Given the description of an element on the screen output the (x, y) to click on. 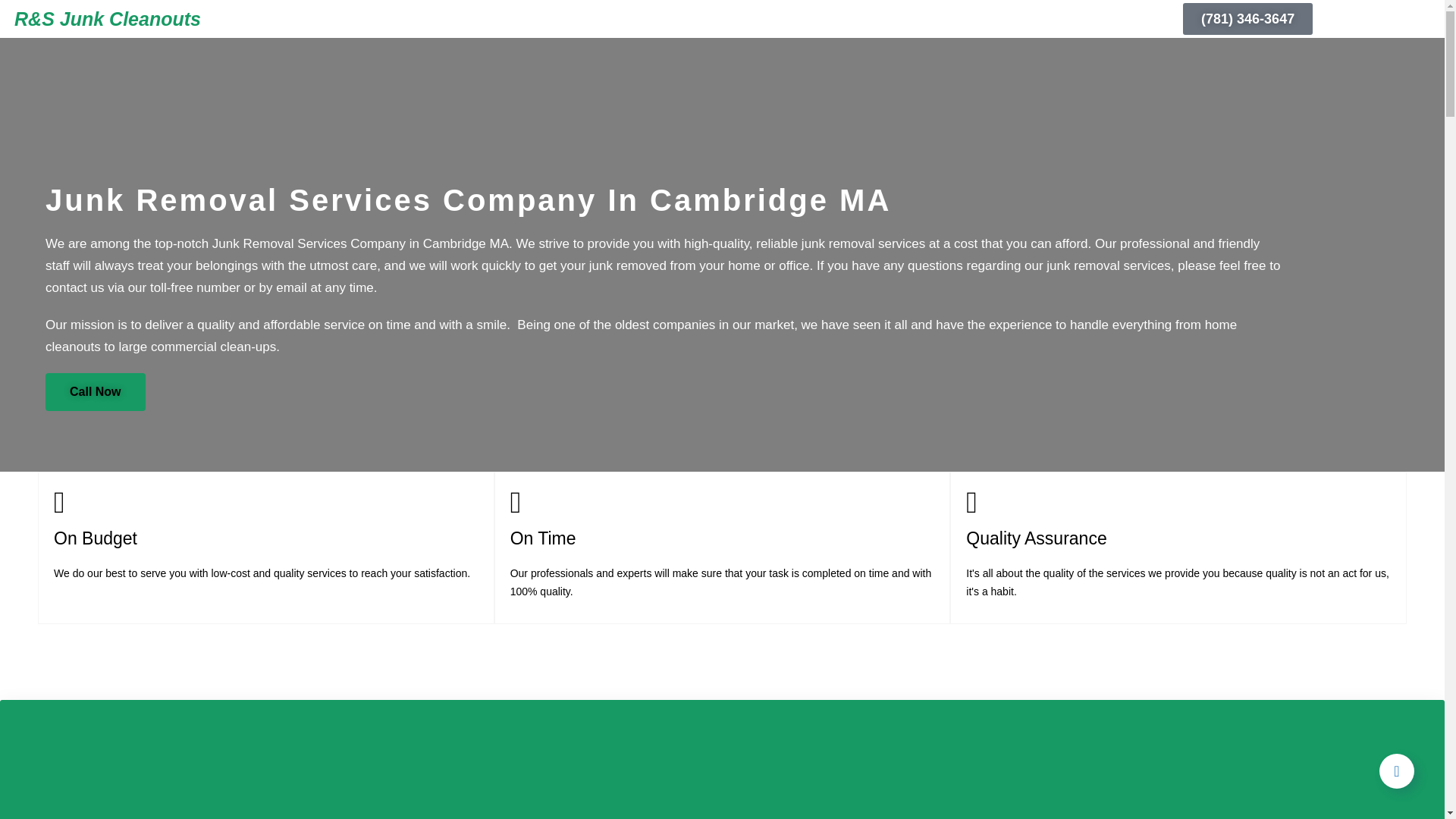
FAQs (834, 18)
Home (547, 18)
Testimonials (763, 18)
About Us (610, 18)
Call Now (95, 392)
Services (682, 18)
Contact (954, 18)
Gallery (890, 18)
